Given the description of an element on the screen output the (x, y) to click on. 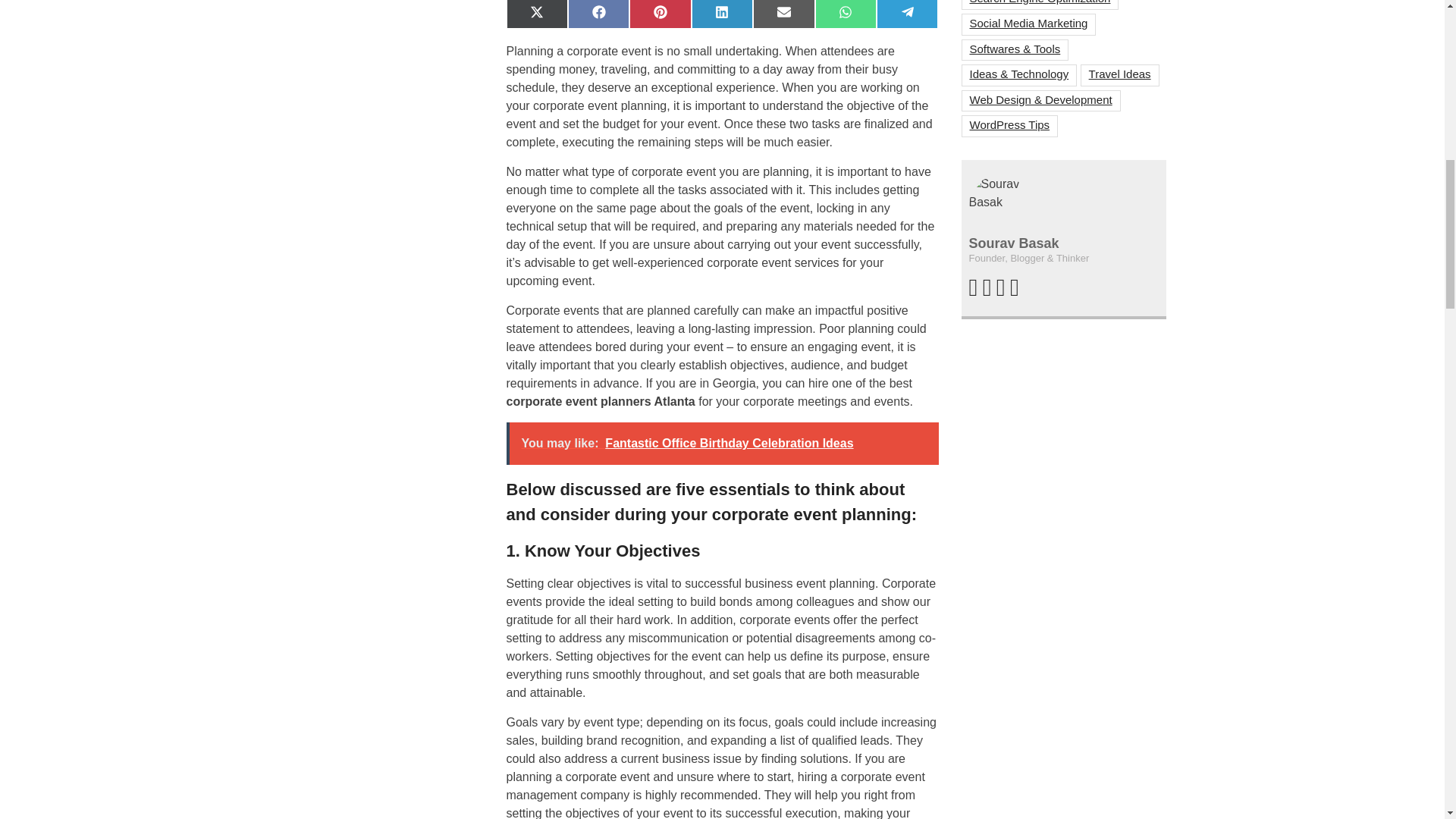
Share on Pinterest (659, 14)
Share on Email (782, 14)
Share on LinkedIn (721, 14)
Share on Facebook (597, 14)
